Given the description of an element on the screen output the (x, y) to click on. 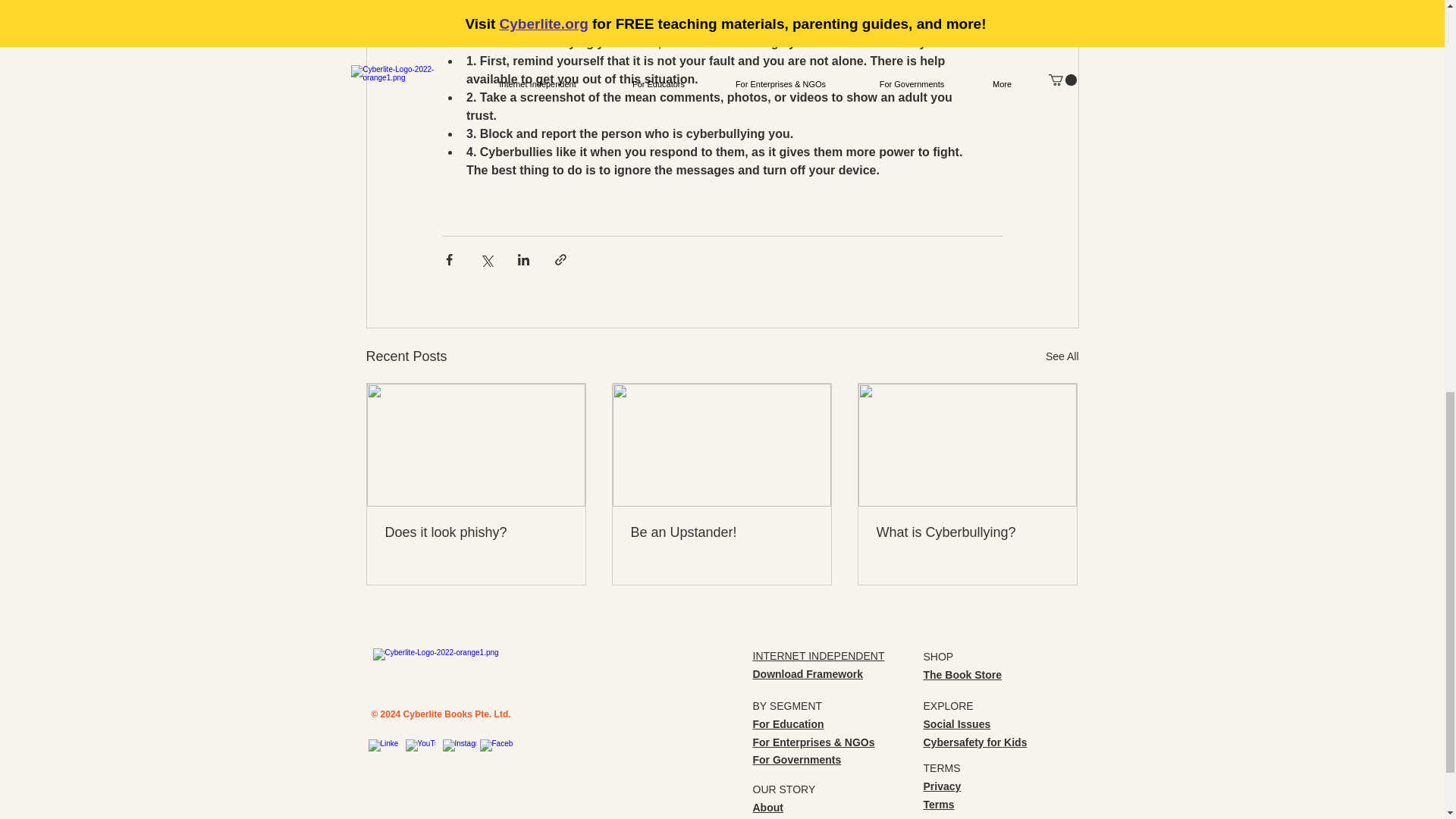
What is Cyberbullying? (967, 532)
Does it look phishy? (476, 532)
See All (1061, 356)
INTERNET INDEPENDENT (817, 655)
Be an Upstander! (721, 532)
